Given the description of an element on the screen output the (x, y) to click on. 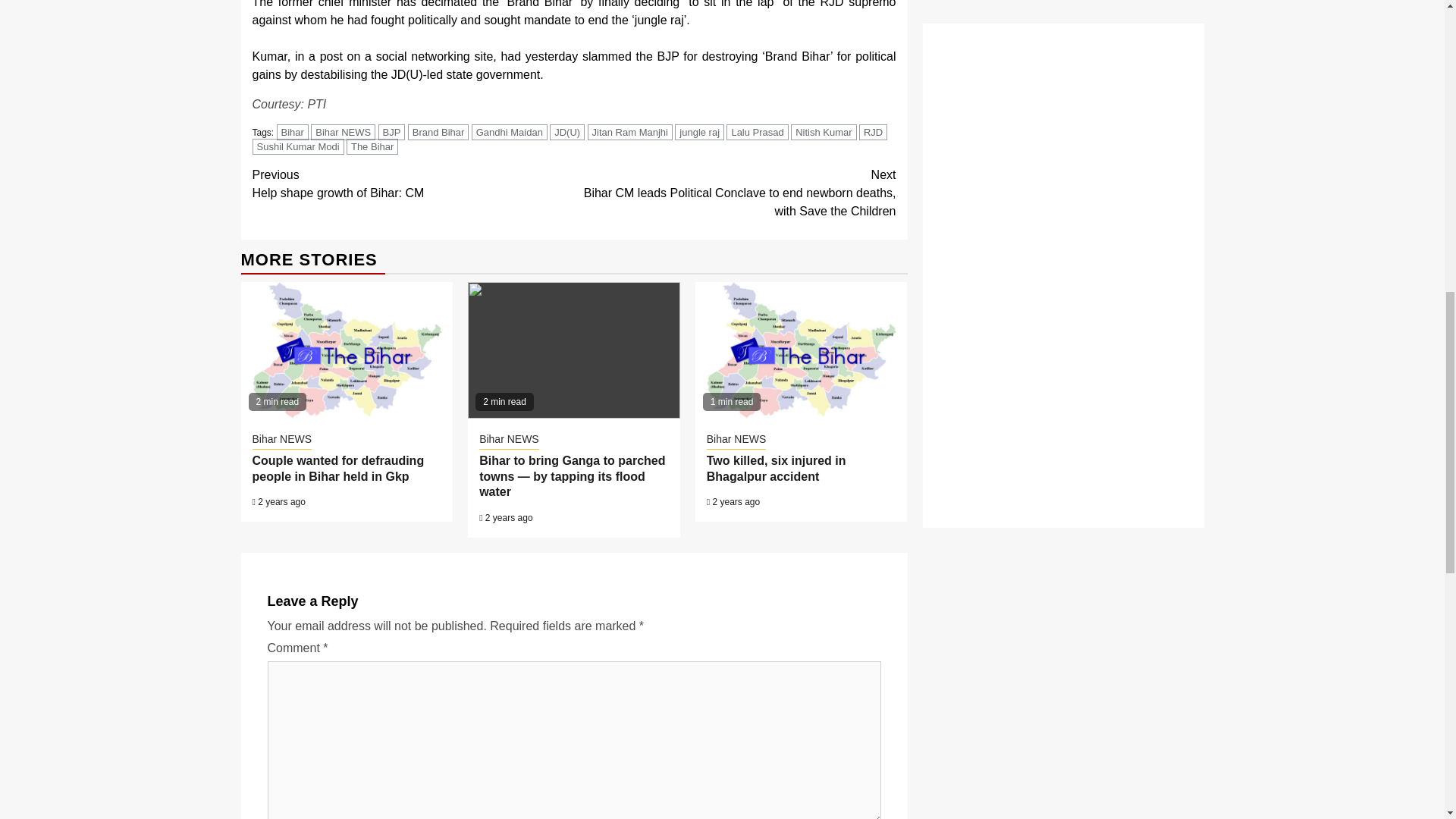
BJP (392, 132)
Gandhi Maidan (509, 132)
Brand Bihar (437, 132)
Jitan Ram Manjhi (630, 132)
jungle raj (699, 132)
Bihar NEWS (343, 132)
Bihar (292, 132)
